Given the description of an element on the screen output the (x, y) to click on. 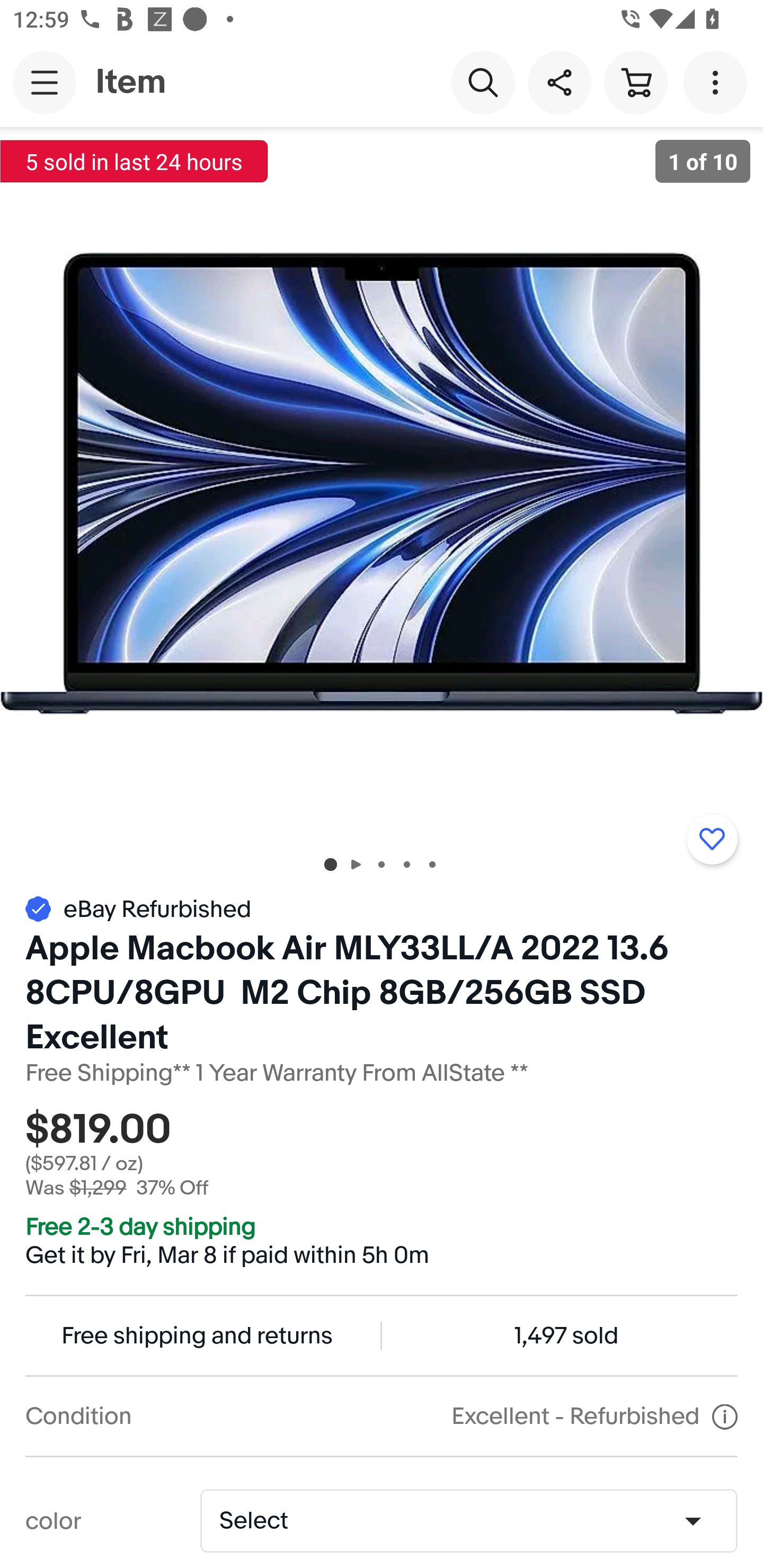
Main navigation, open (44, 82)
Search (482, 81)
Share this item (559, 81)
Cart button shopping cart (635, 81)
More options (718, 81)
Item image 1 of 10 (381, 482)
5 sold in last 24 hours (133, 161)
Add to watchlist (711, 838)
color,No selection Select (468, 1520)
